Given the description of an element on the screen output the (x, y) to click on. 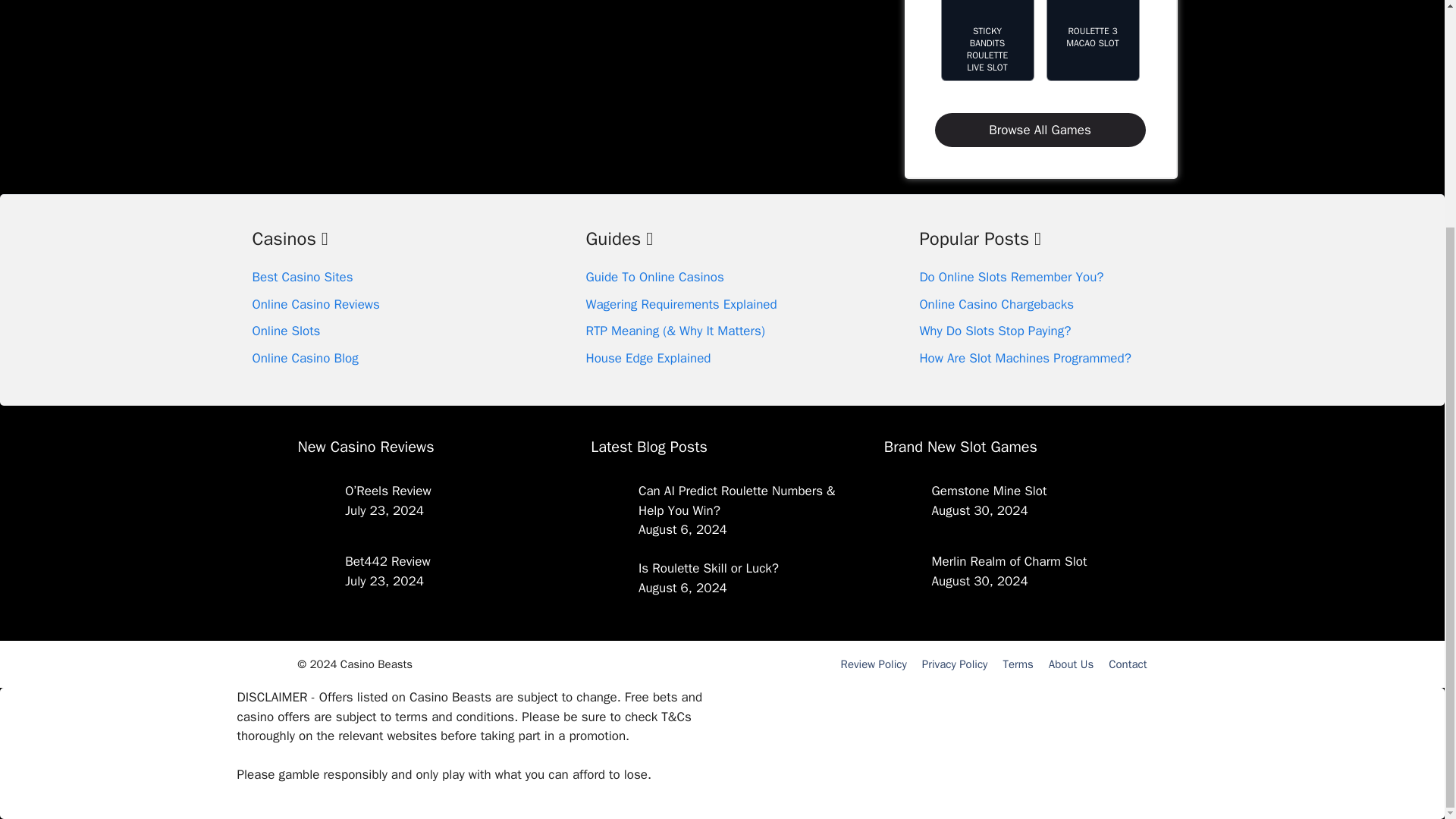
House Edge Explained (647, 358)
How Are Slot Machines Programmed? (1024, 358)
Merlin Realm of Charm Slot (1009, 561)
Bet442 Review (387, 561)
Do Online Slots Remember You? (1010, 277)
Why Do Slots Stop Paying? (994, 330)
Online Casino Blog (304, 358)
About Us (1070, 663)
Best Casino Sites (301, 277)
Wagering Requirements Explained (680, 304)
